Given the description of an element on the screen output the (x, y) to click on. 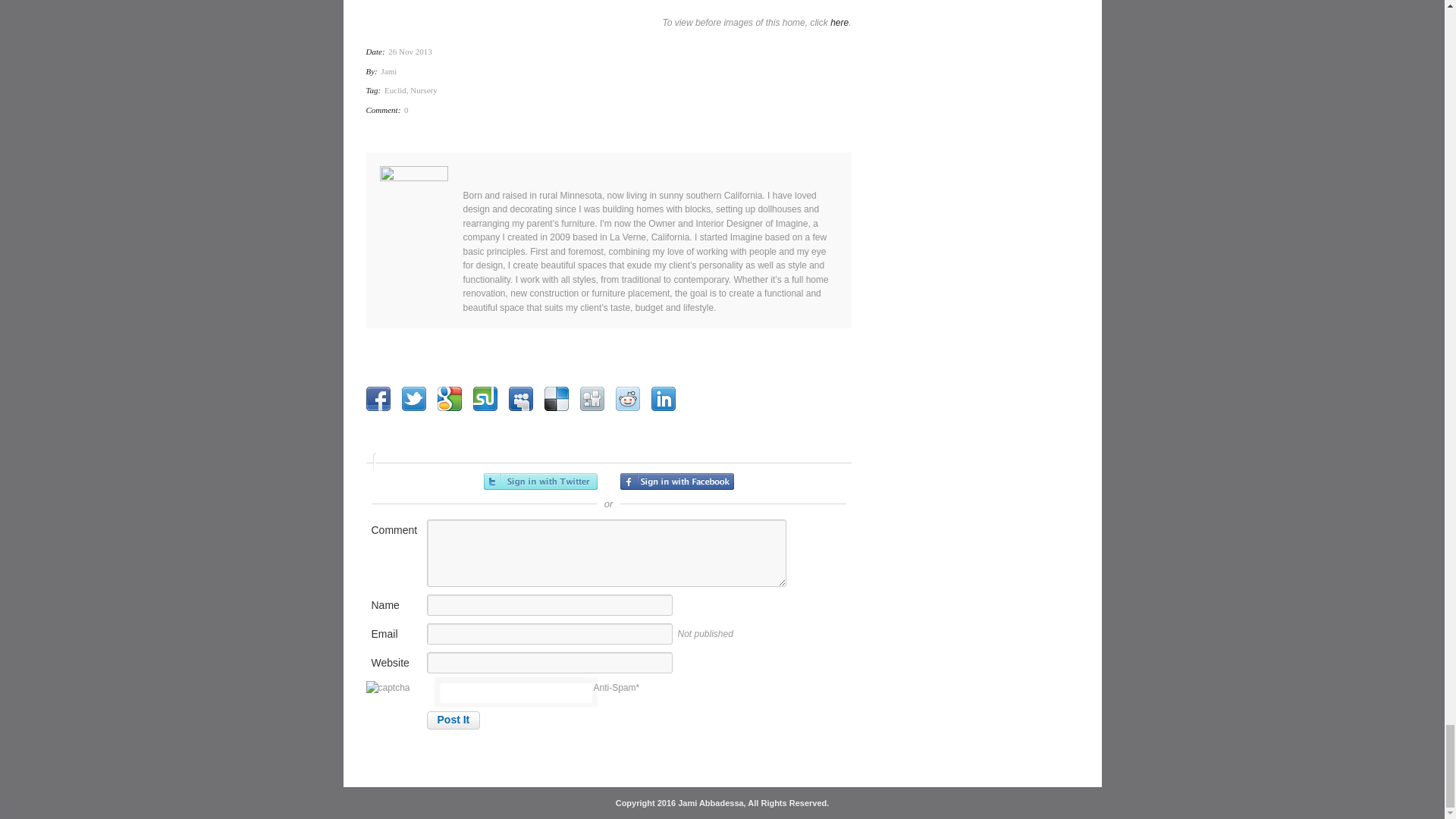
Nursery (423, 90)
Euclid (395, 90)
Sign in with Facebook (676, 481)
Jami (389, 71)
Post It (453, 720)
Sign in with Twitter (539, 481)
Post It (453, 720)
here (838, 22)
